Given the description of an element on the screen output the (x, y) to click on. 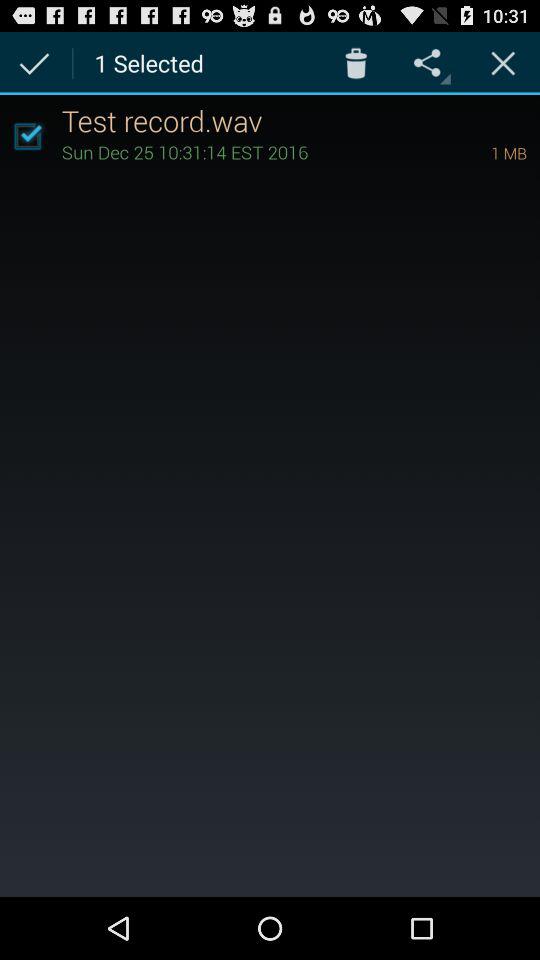
open the icon next to the test record.wav app (27, 136)
